Given the description of an element on the screen output the (x, y) to click on. 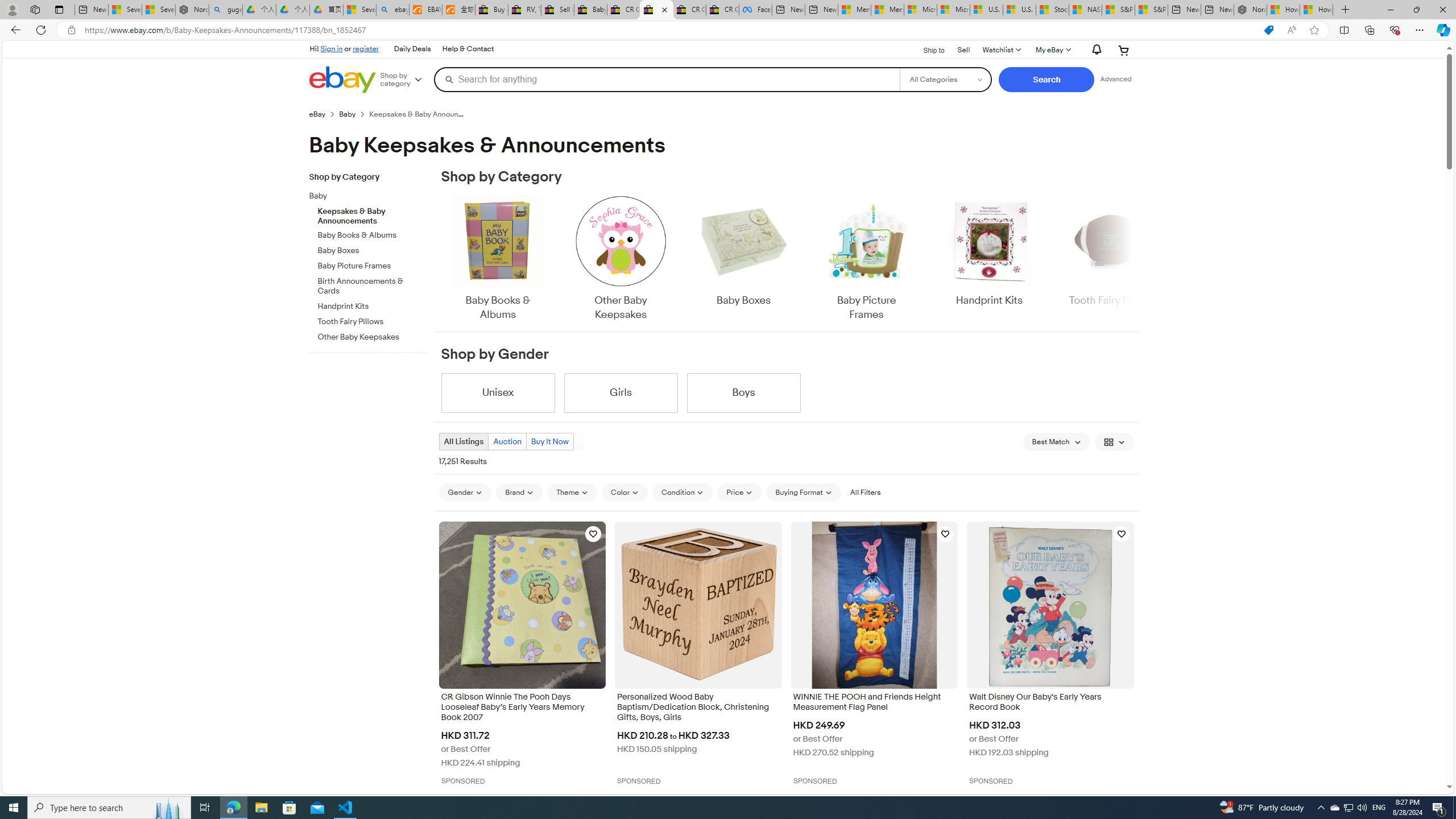
Help & Contact (467, 49)
Birth Announcements & Cards (371, 286)
Address and search bar (669, 29)
Baby Keepsakes & Announcements for sale | eBay (656, 9)
Personal Profile (12, 9)
Go to previous slide (439, 258)
Search (1046, 79)
Close (1442, 9)
Help & Contact (467, 49)
Collections (1369, 29)
RV, Trailer & Camper Steps & Ladders for sale | eBay (524, 9)
Buy It Now (549, 441)
Condition (682, 492)
